Given the description of an element on the screen output the (x, y) to click on. 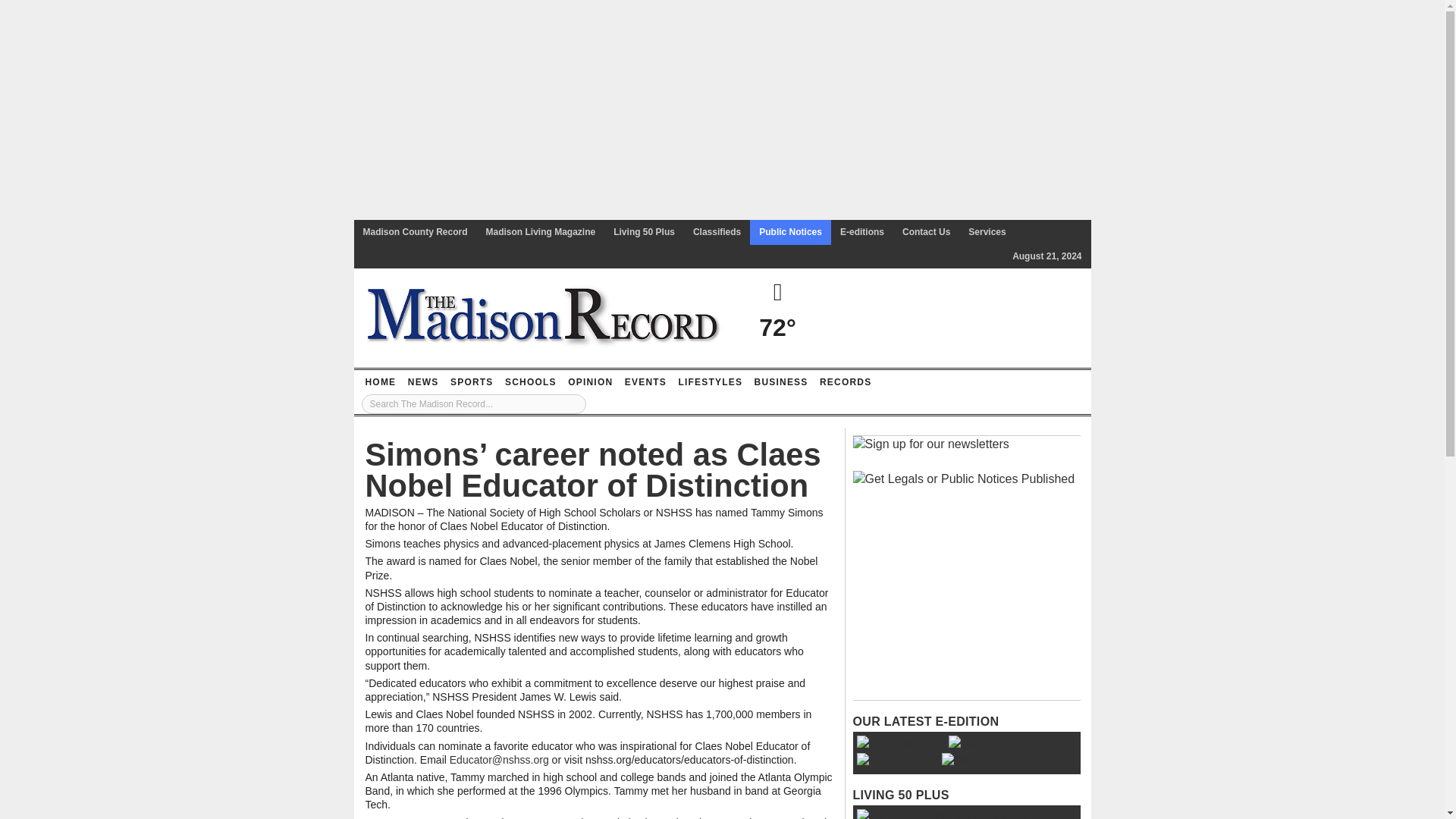
SPORTS (471, 381)
OUR LATEST E-EDITION (924, 721)
EVENTS (645, 381)
Sign up for our newsletters (930, 443)
OPINION (589, 381)
Madison Living Magazine (541, 232)
SCHOOLS (530, 381)
Living 50 Plus (644, 232)
Go (574, 403)
E-editions (862, 232)
